Given the description of an element on the screen output the (x, y) to click on. 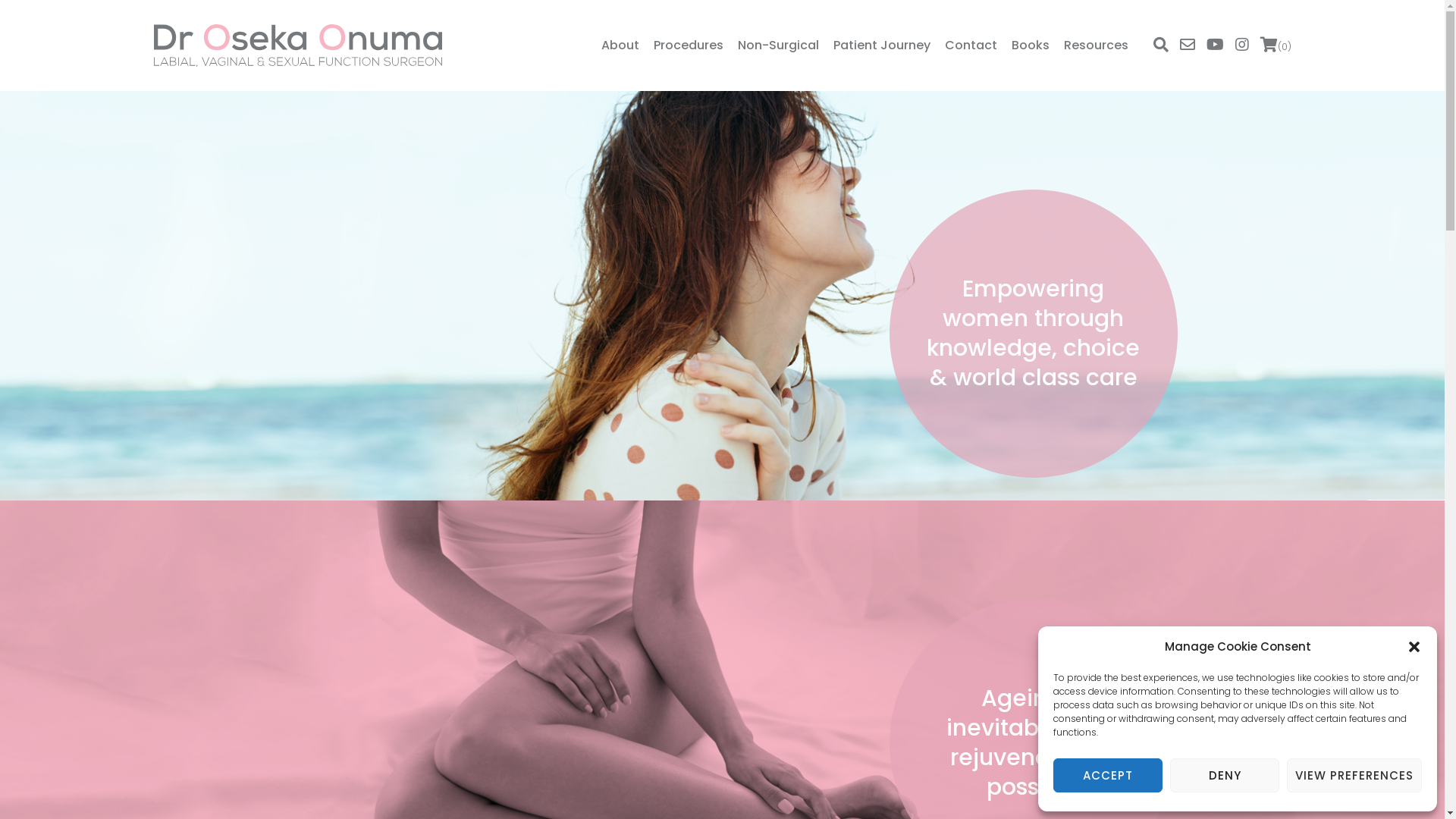
Books Element type: text (1030, 44)
(0) Element type: text (1275, 44)
DENY Element type: text (1224, 775)
Contact Element type: text (970, 44)
ACCEPT Element type: text (1107, 775)
About Element type: text (619, 44)
Non-Surgical Element type: text (777, 44)
Patient Journey Element type: text (880, 44)
Procedures Element type: text (688, 44)
Resources Element type: text (1095, 44)
VIEW PREFERENCES Element type: text (1353, 775)
